Given the description of an element on the screen output the (x, y) to click on. 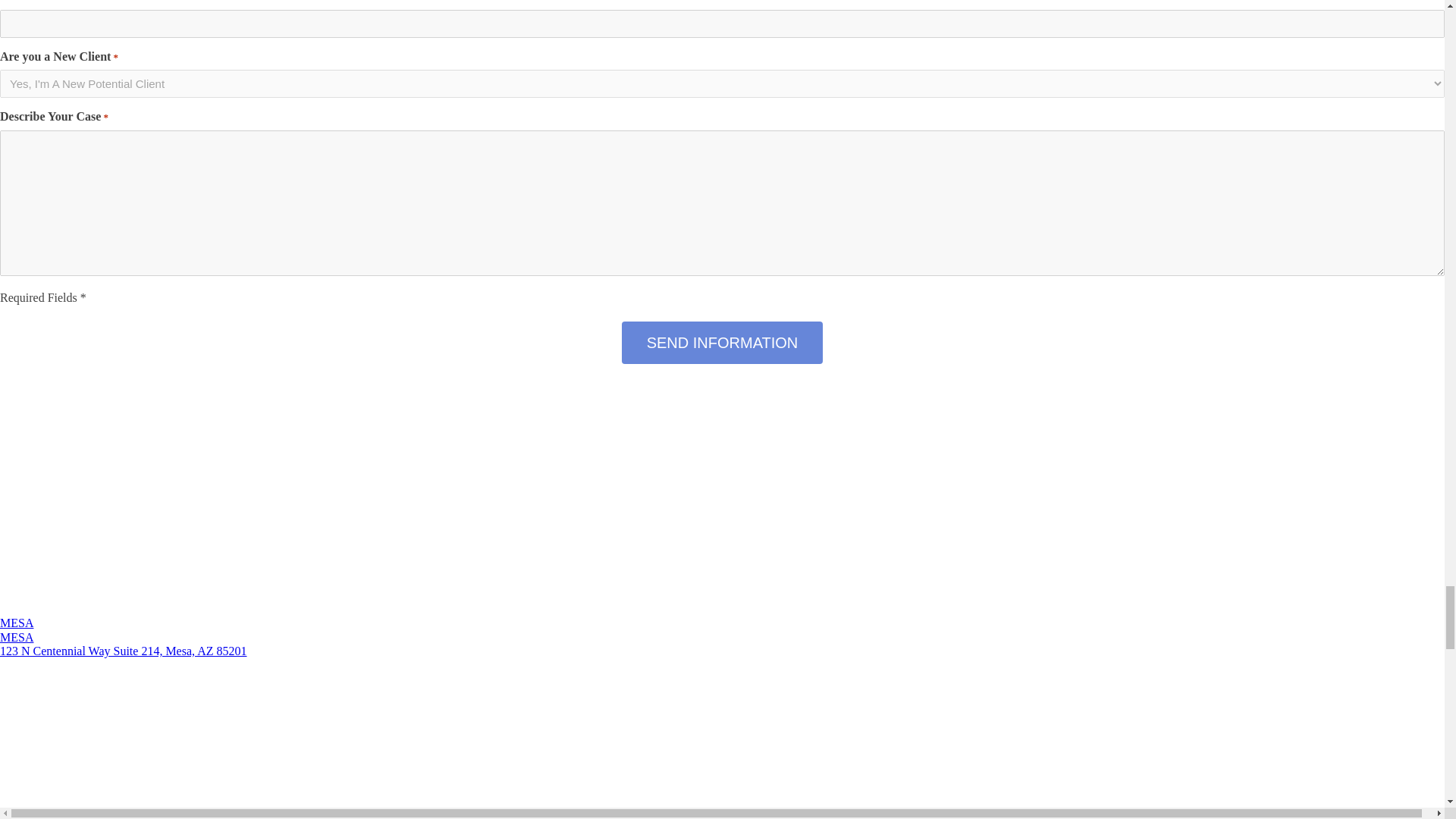
Send Information (722, 342)
